Given the description of an element on the screen output the (x, y) to click on. 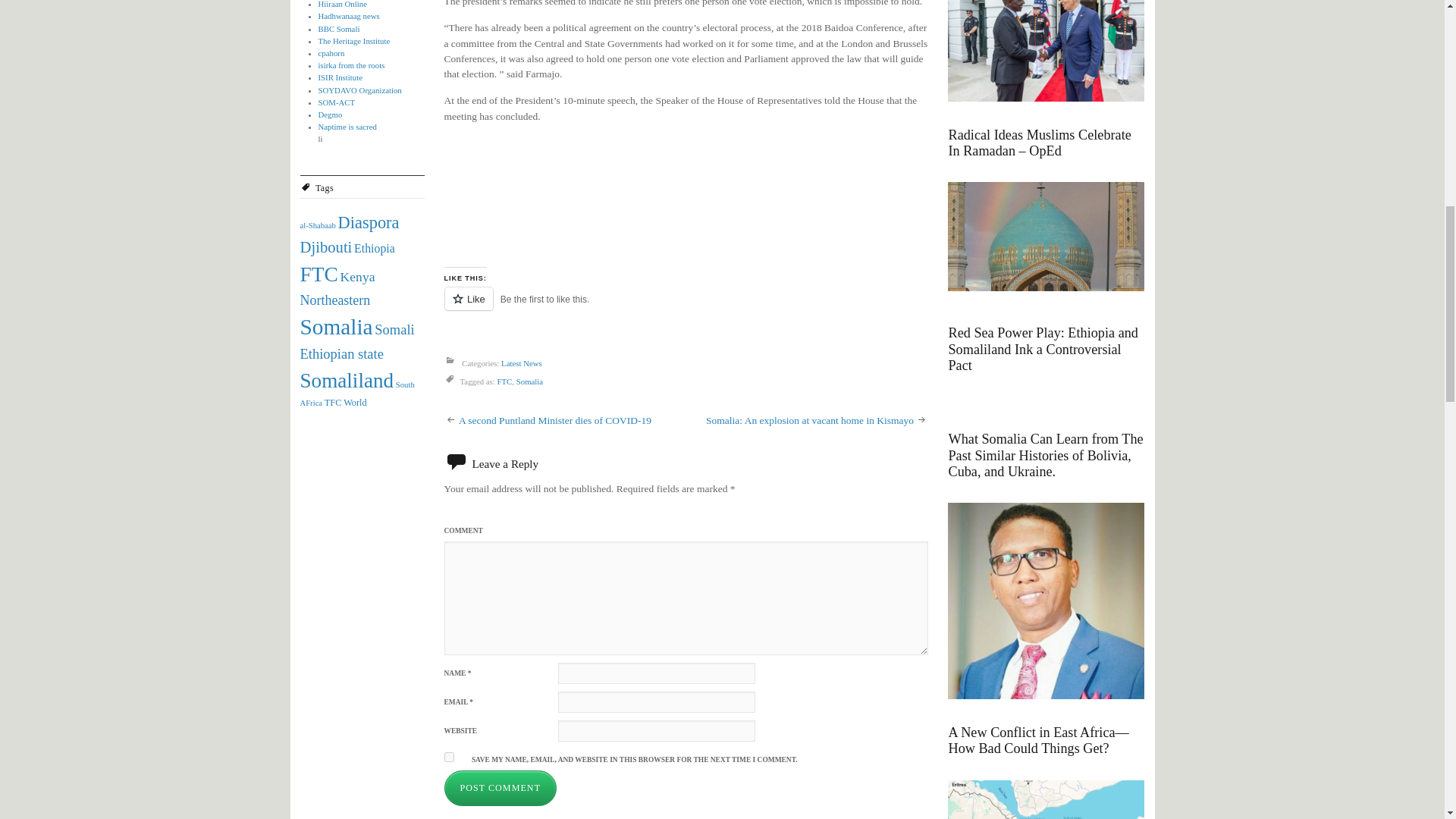
isirka from the roots (351, 64)
Hadhwanaag news (349, 15)
Naptime is sacred (347, 126)
SOM-ACT (336, 102)
cpahorn (331, 52)
Hiiraan Online (342, 4)
SOYDAVO Organization (359, 90)
Kenya (357, 276)
Somaliland (346, 380)
Djibouti (325, 247)
Degmo (330, 113)
Ethiopia (373, 247)
FTC (318, 273)
BBC Somali (338, 28)
ISIR Institute (340, 76)
